Given the description of an element on the screen output the (x, y) to click on. 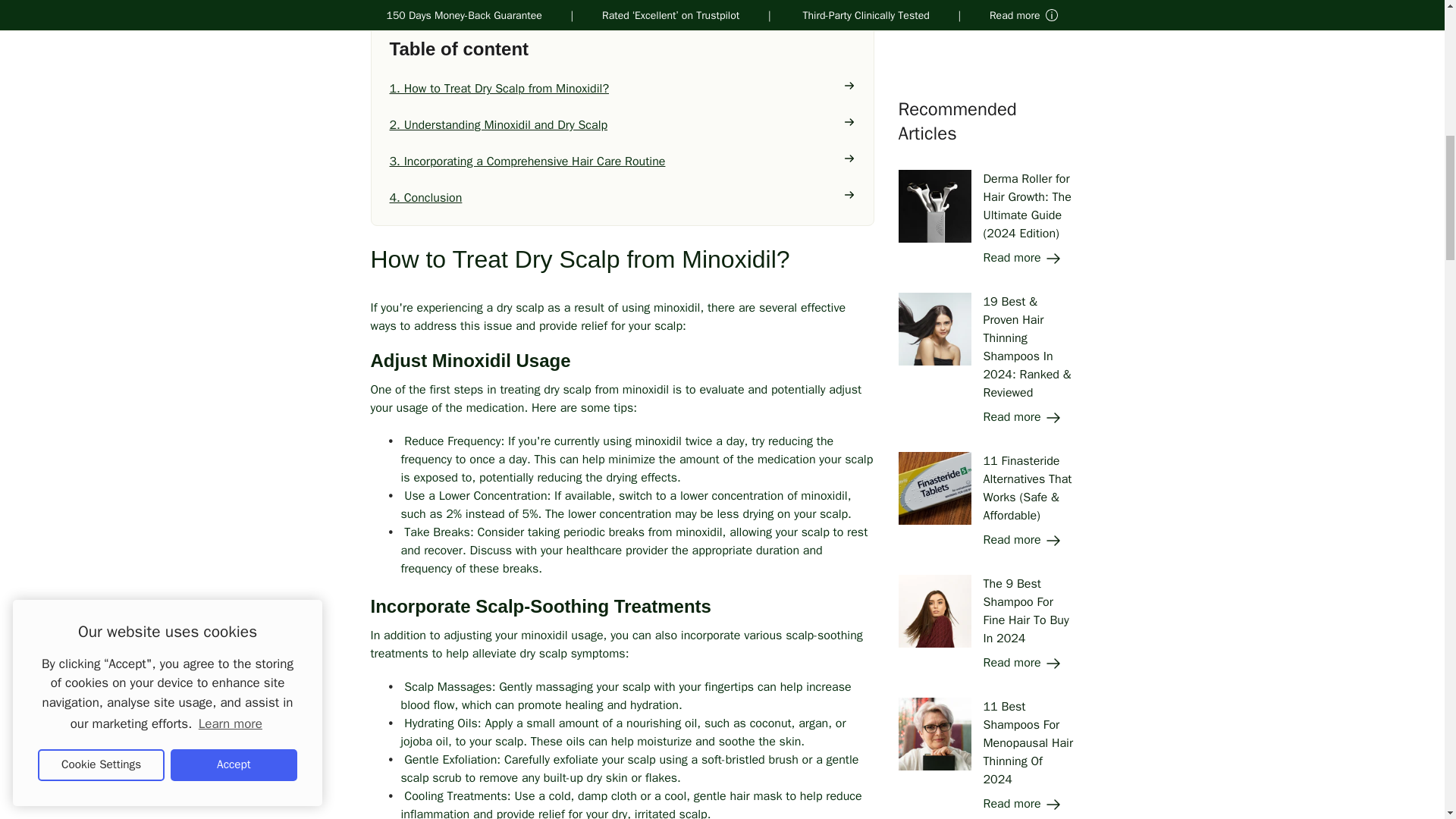
4. Conclusion (623, 198)
3. Incorporating a Comprehensive Hair Care Routine (623, 161)
Read more (1022, 15)
2. Understanding Minoxidil and Dry Scalp (623, 125)
1. How to Treat Dry Scalp from Minoxidil? (623, 88)
